Given the description of an element on the screen output the (x, y) to click on. 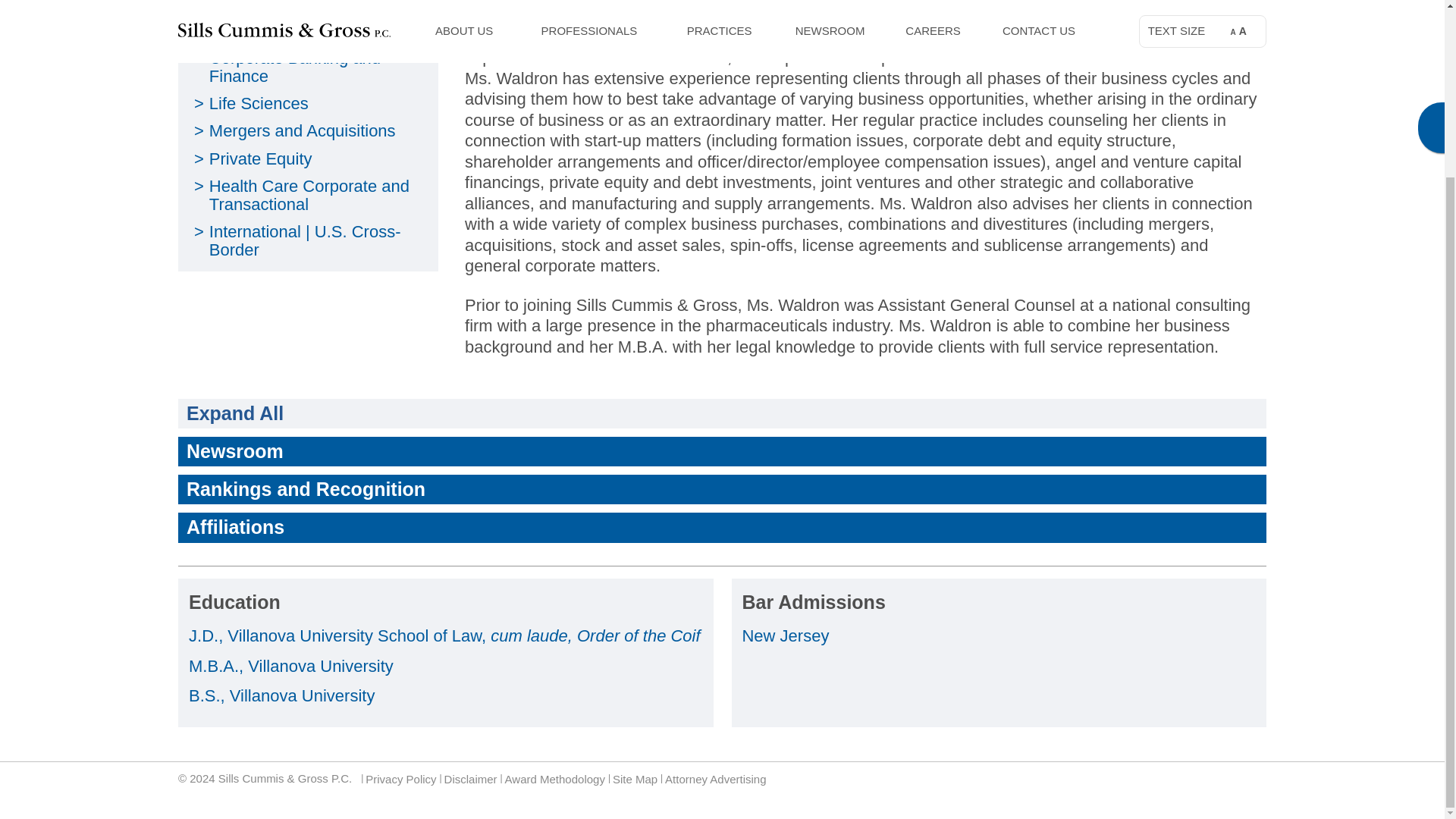
Health Care Corporate and Transactional (309, 194)
Private Equity (261, 158)
LinkedIn (1229, 779)
Corporate (246, 29)
Mergers and Acquisitions (302, 130)
Twitter (1251, 779)
Life Sciences (258, 103)
Corporate Banking and Finance (294, 66)
